Given the description of an element on the screen output the (x, y) to click on. 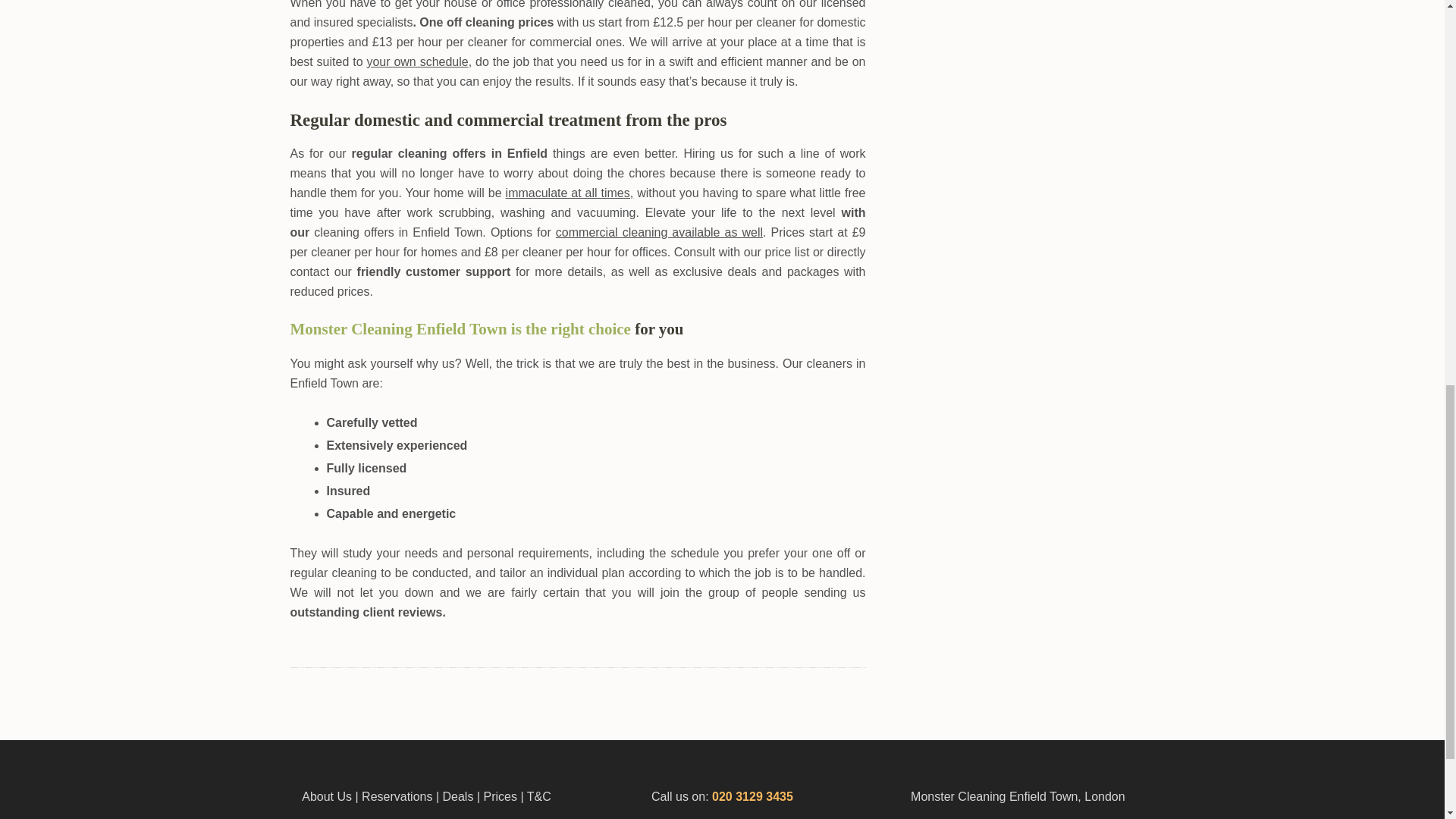
Monster Cleaning Enfield Town is the right choice (459, 329)
020 3129 3435 (752, 796)
Prices (499, 796)
Deals (459, 796)
Reservations (396, 796)
About Us (326, 796)
